Given the description of an element on the screen output the (x, y) to click on. 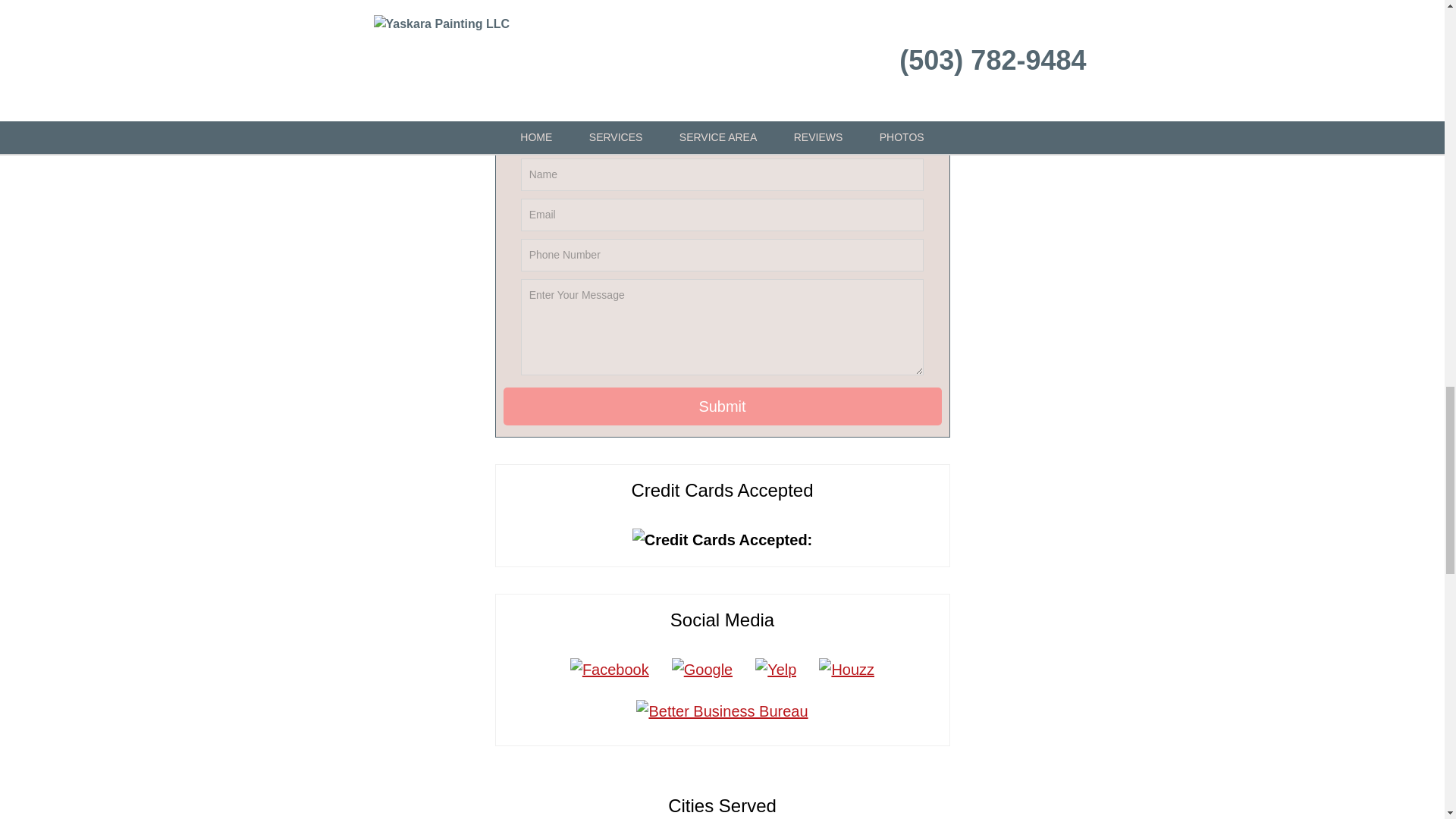
Better Business Bureau (721, 710)
Facebook (610, 669)
Houzz (846, 669)
Yelp (776, 669)
Submit (722, 406)
Google (702, 669)
